Given the description of an element on the screen output the (x, y) to click on. 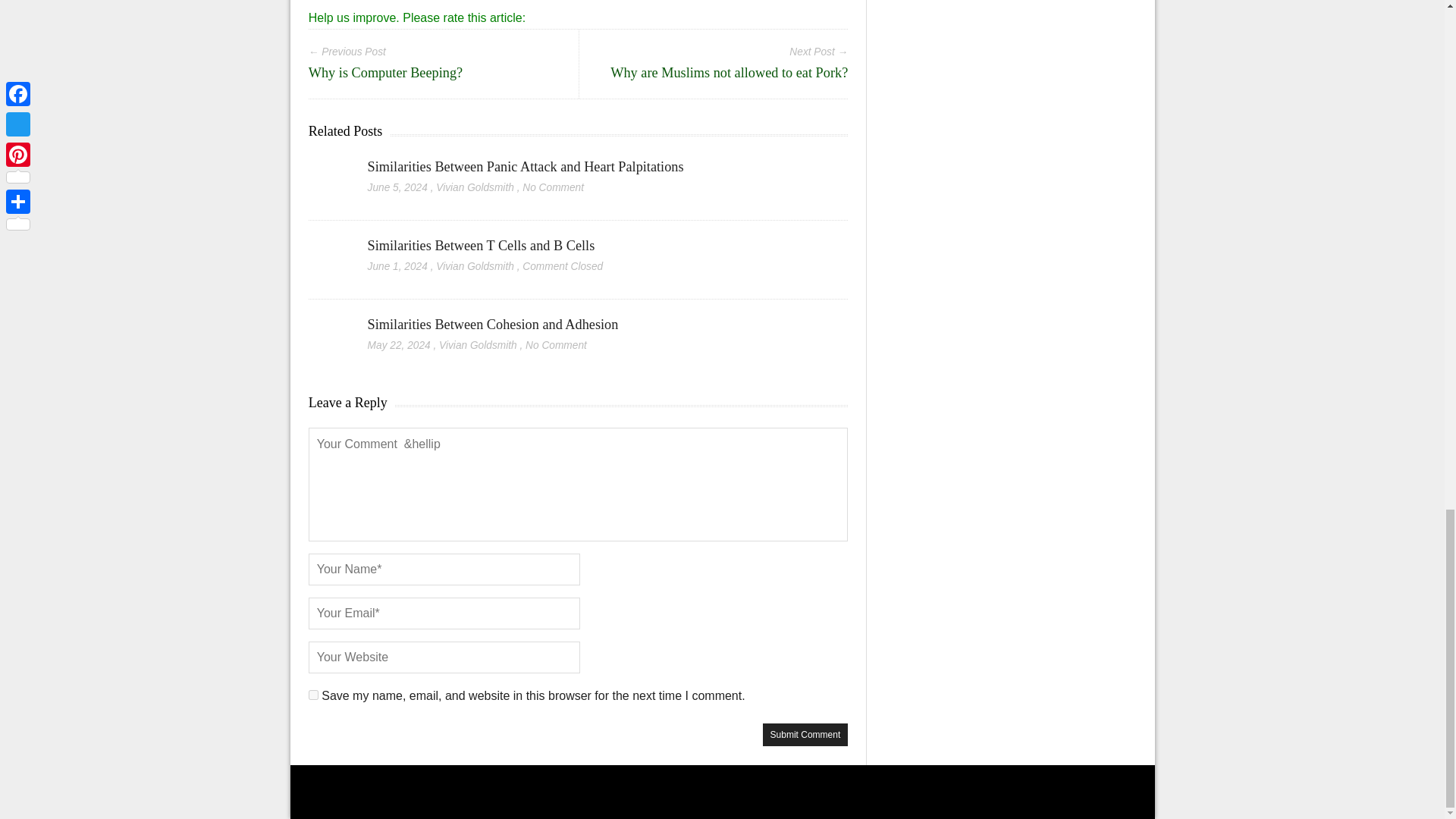
Similarities Between T Cells and B Cells (329, 246)
Similarities Between Panic Attack and Heart Palpitations (329, 167)
Why Do Circuit Breaks Trip?  (396, 10)
Similarities Between Panic Attack and Heart Palpitations (526, 166)
Similarities Between T Cells and B Cells (481, 245)
Similarities Between Panic Attack and Heart Palpitations (526, 166)
Posts by Vivian Goldsmith (474, 187)
Similarities Between T Cells and B Cells (481, 245)
Similarities Between Cohesion and Adhesion (493, 324)
Posts by Vivian Goldsmith (474, 266)
